Given the description of an element on the screen output the (x, y) to click on. 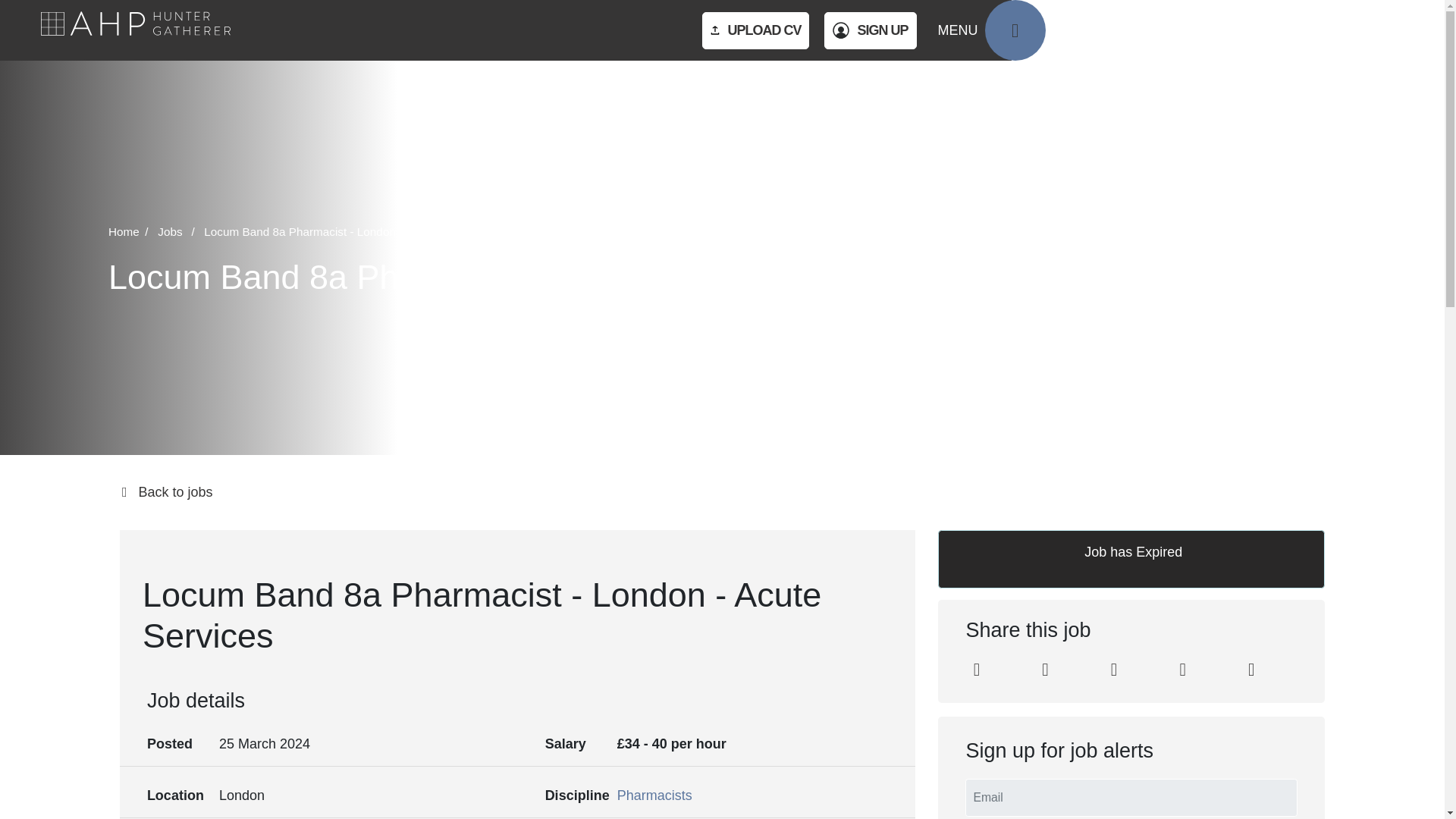
Locum Band 8a Pharmacist - London - Acute Services (342, 232)
MENU (991, 30)
Home (130, 232)
LinkedIn (976, 671)
Jobs (178, 232)
Back to jobs (722, 492)
Pharmacists (655, 795)
Go to the Homepage (135, 30)
Send in Whatsapp (1251, 671)
SIGN UP (869, 30)
Share on Facebook (1113, 671)
Tweet this (1045, 671)
Email (1182, 671)
UPLOAD CV (755, 30)
